Given the description of an element on the screen output the (x, y) to click on. 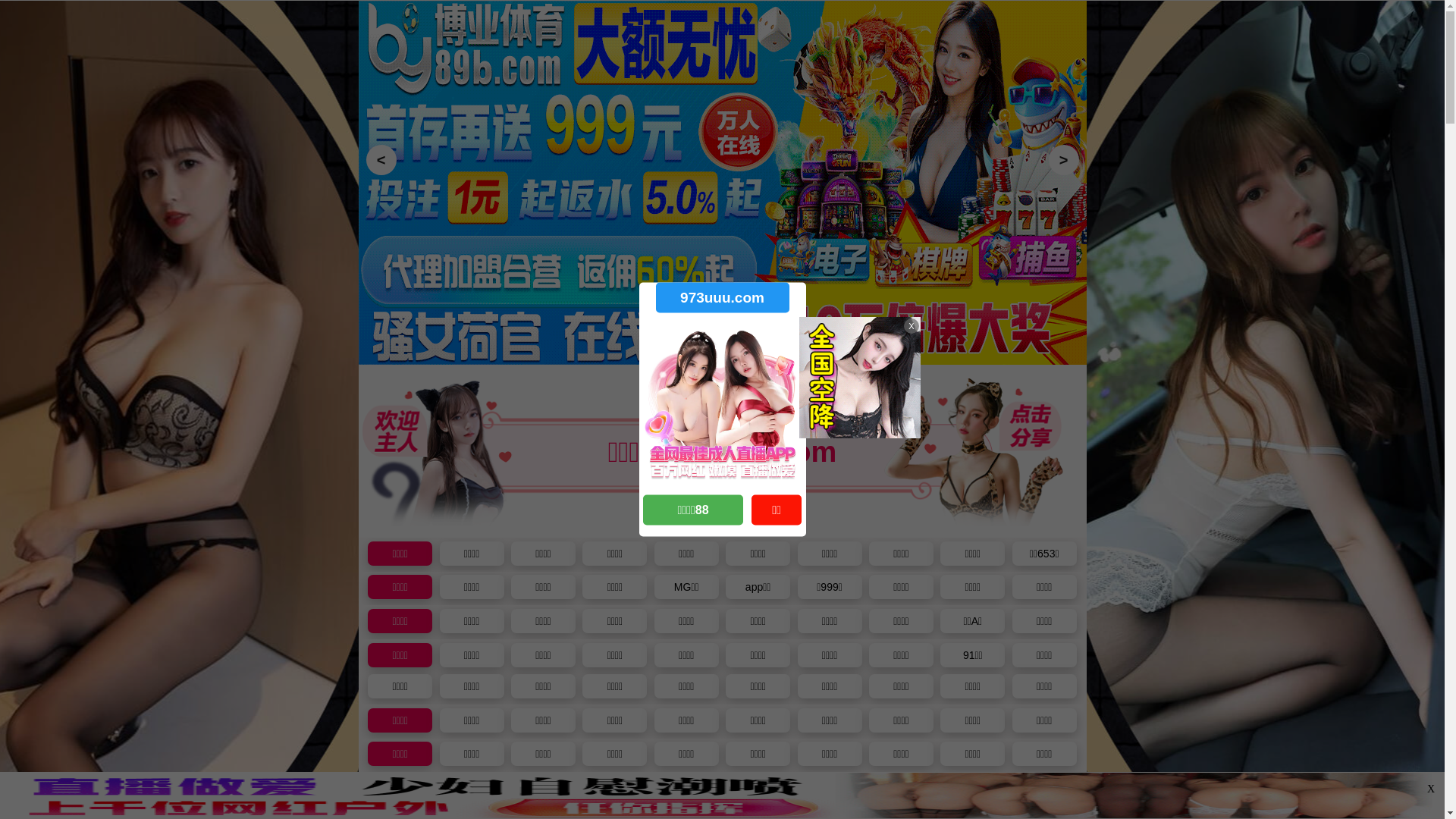
> Element type: text (1063, 159)
X Element type: text (1430, 789)
< Element type: text (380, 159)
973uuu.com Element type: text (721, 297)
